Given the description of an element on the screen output the (x, y) to click on. 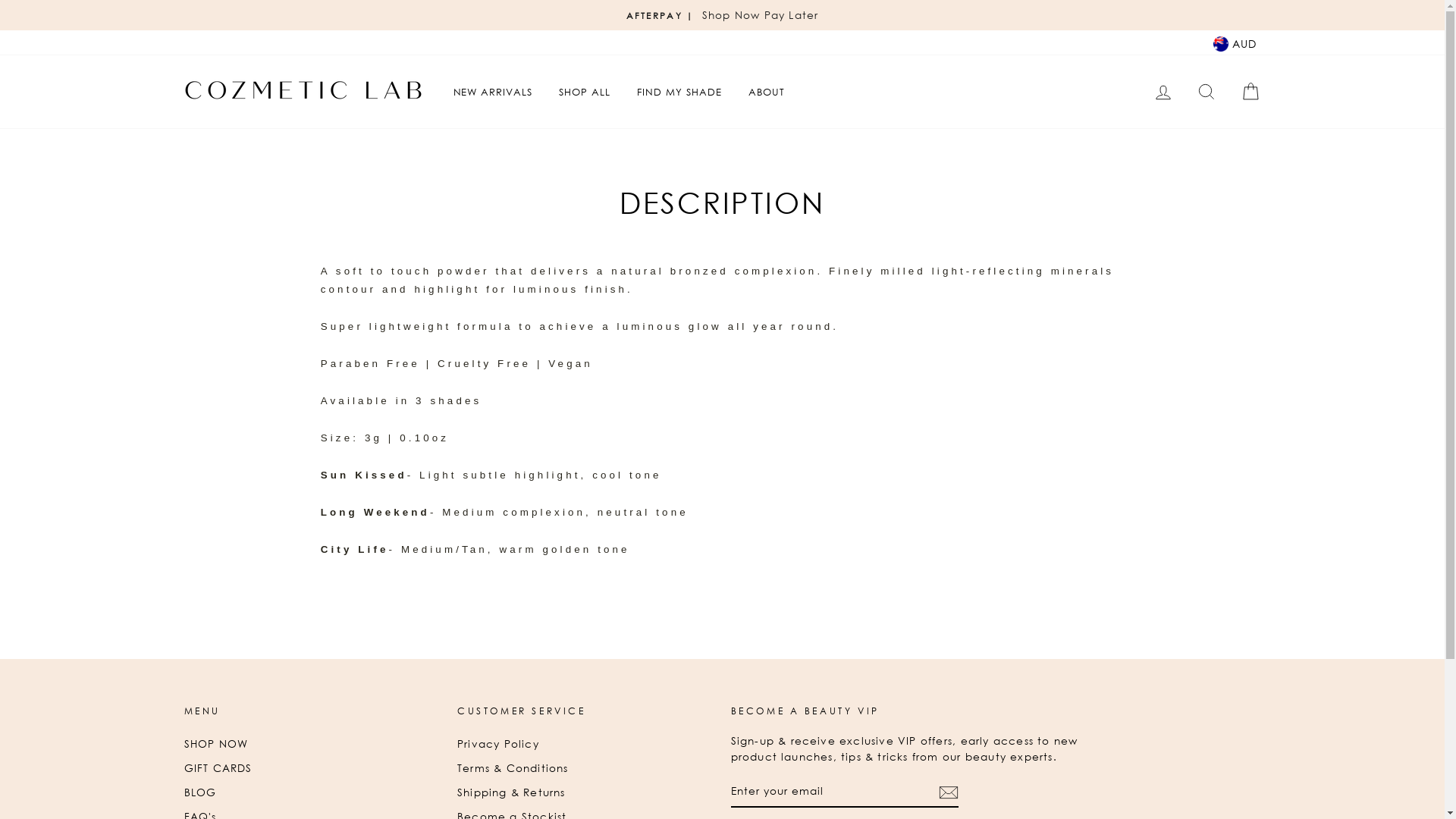
GIFT CARDS Element type: text (217, 767)
Shipping & Returns Element type: text (511, 792)
Privacy Policy Element type: text (498, 743)
CART Element type: text (1249, 91)
Terms & Conditions Element type: text (512, 767)
NEW ARRIVALS Element type: text (492, 91)
AUD Element type: text (1234, 42)
SHOP NOW Element type: text (215, 743)
ABOUT Element type: text (766, 91)
Skip to content Element type: text (0, 0)
SHOP ALL Element type: text (584, 91)
FIND MY SHADE Element type: text (679, 91)
SEARCH Element type: text (1206, 91)
LOG IN Element type: text (1163, 91)
BLOG Element type: text (199, 792)
